Given the description of an element on the screen output the (x, y) to click on. 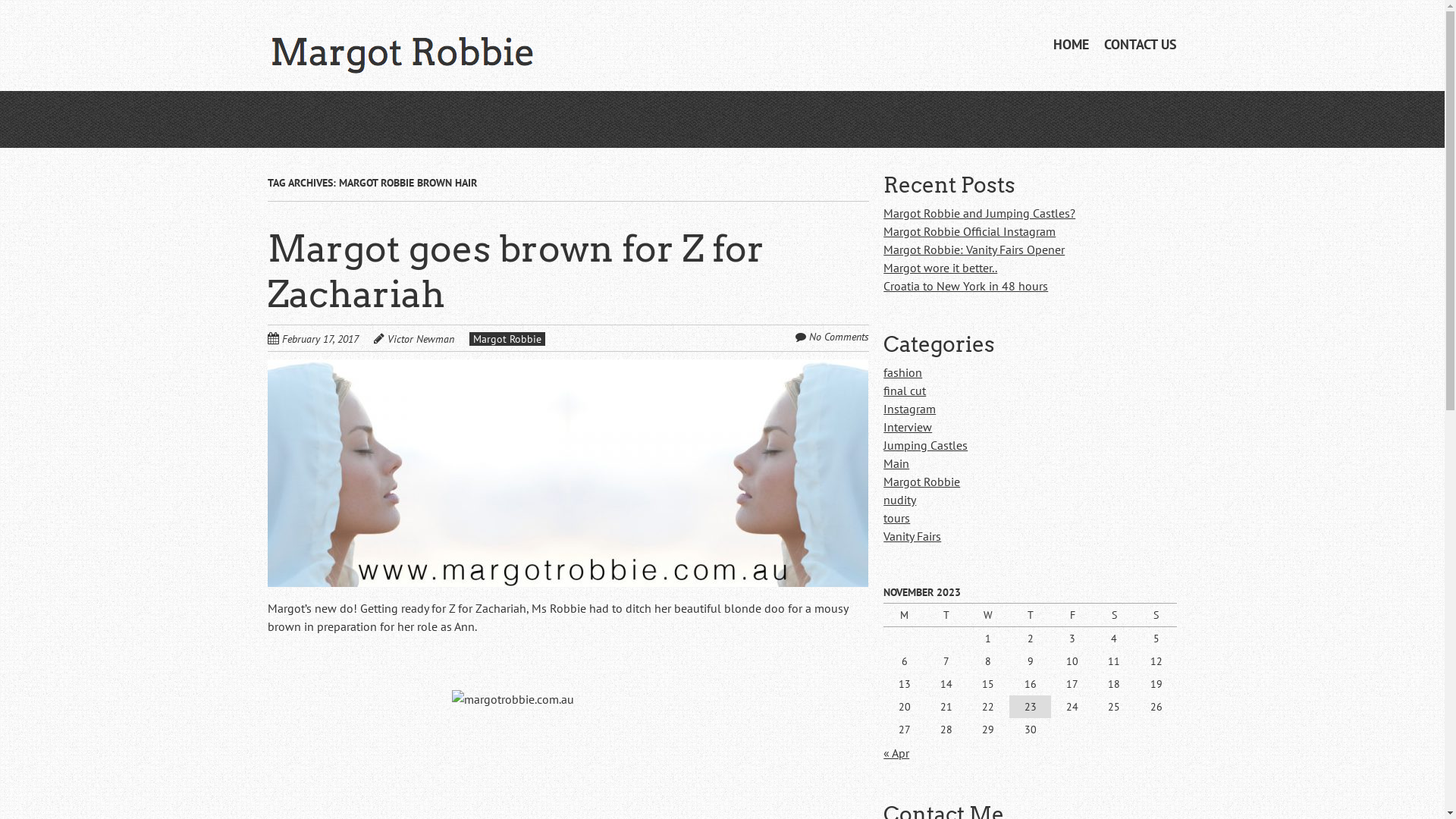
February 17, 2017 Element type: text (327, 337)
Vanity Fairs Element type: text (912, 535)
final cut Element type: text (904, 390)
Margot Robbie Element type: hover (400, 45)
Main Element type: text (896, 462)
CONTACT US Element type: text (1140, 44)
Margot Robbie and Jumping Castles? Element type: text (979, 212)
Margot Robbie Element type: text (506, 338)
Margot goes brown for Z for Zachariah Element type: text (514, 271)
Skip to content Element type: text (1038, 61)
HOME Element type: text (1070, 44)
nudity Element type: text (899, 499)
Victor Newman Element type: text (419, 338)
Margot wore it better.. Element type: text (940, 267)
Margot Robbie Element type: text (921, 481)
Croatia to New York in 48 hours Element type: text (965, 285)
Interview Element type: text (907, 426)
Instagram Element type: text (909, 408)
Permalink to Margot goes brown for Z for Zachariah Element type: hover (566, 368)
tours Element type: text (896, 517)
Margot Robbie Official Instagram Element type: text (969, 230)
fashion Element type: text (902, 371)
Jumping Castles Element type: text (925, 444)
No Comments Element type: text (839, 336)
Margot Robbie: Vanity Fairs Opener Element type: text (973, 249)
